Given the description of an element on the screen output the (x, y) to click on. 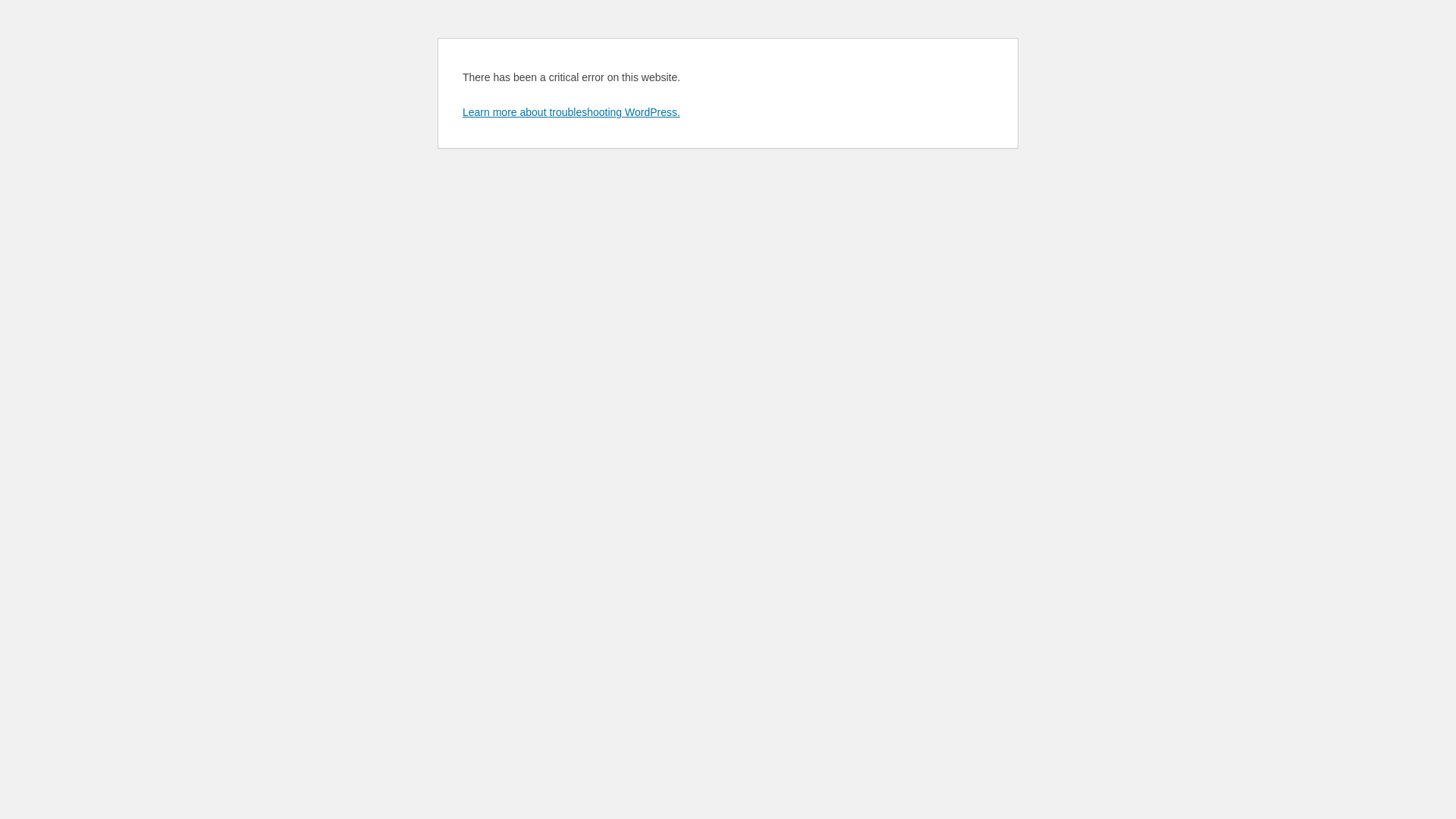
Learn more about troubleshooting WordPress. Element type: text (571, 112)
